Given the description of an element on the screen output the (x, y) to click on. 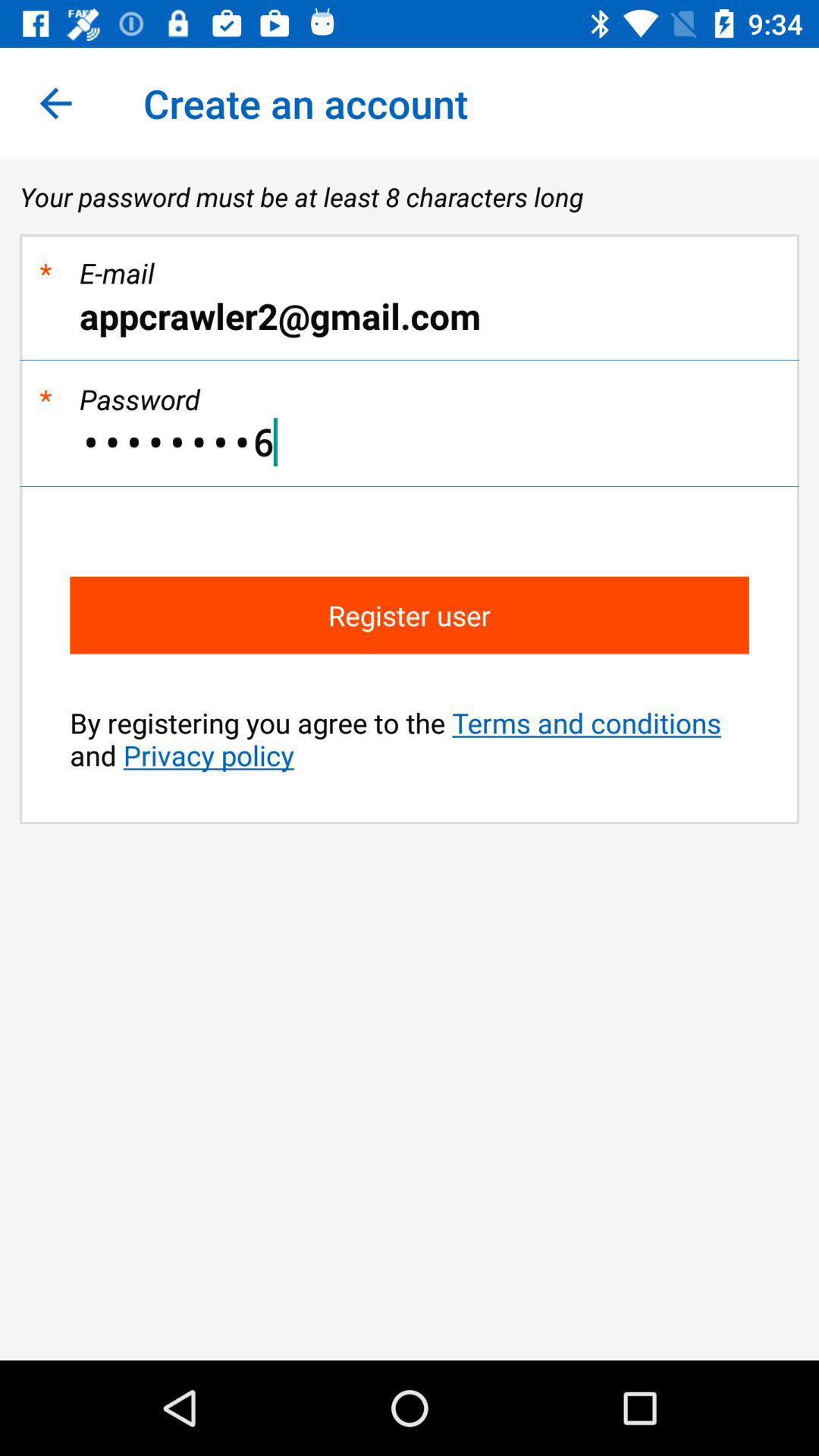
choose the crowd3116 (409, 442)
